Given the description of an element on the screen output the (x, y) to click on. 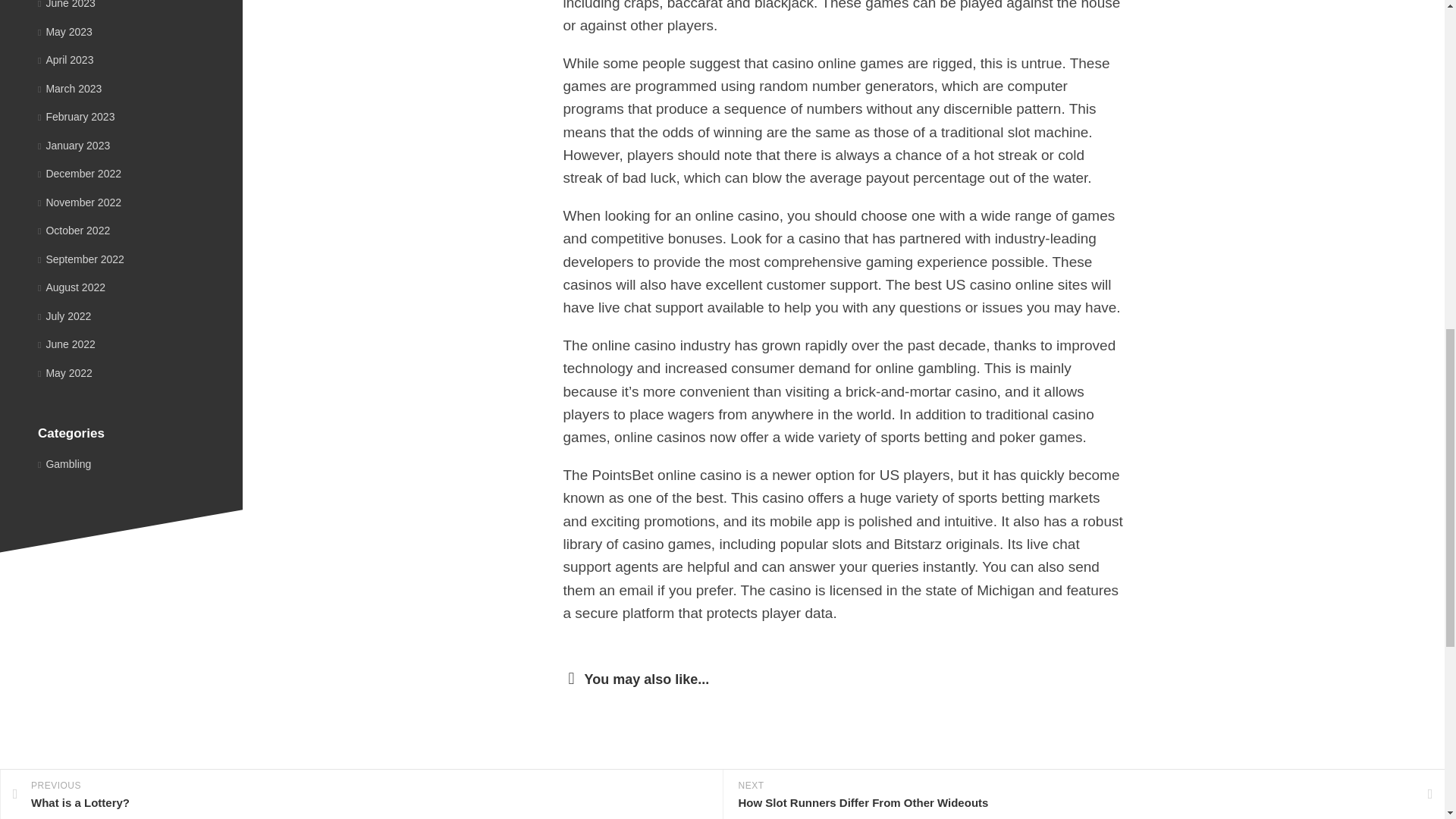
January 2023 (73, 145)
March 2023 (69, 87)
October 2022 (73, 230)
May 2023 (65, 31)
February 2023 (76, 116)
December 2022 (78, 173)
June 2023 (66, 4)
April 2023 (65, 60)
November 2022 (78, 201)
